Given the description of an element on the screen output the (x, y) to click on. 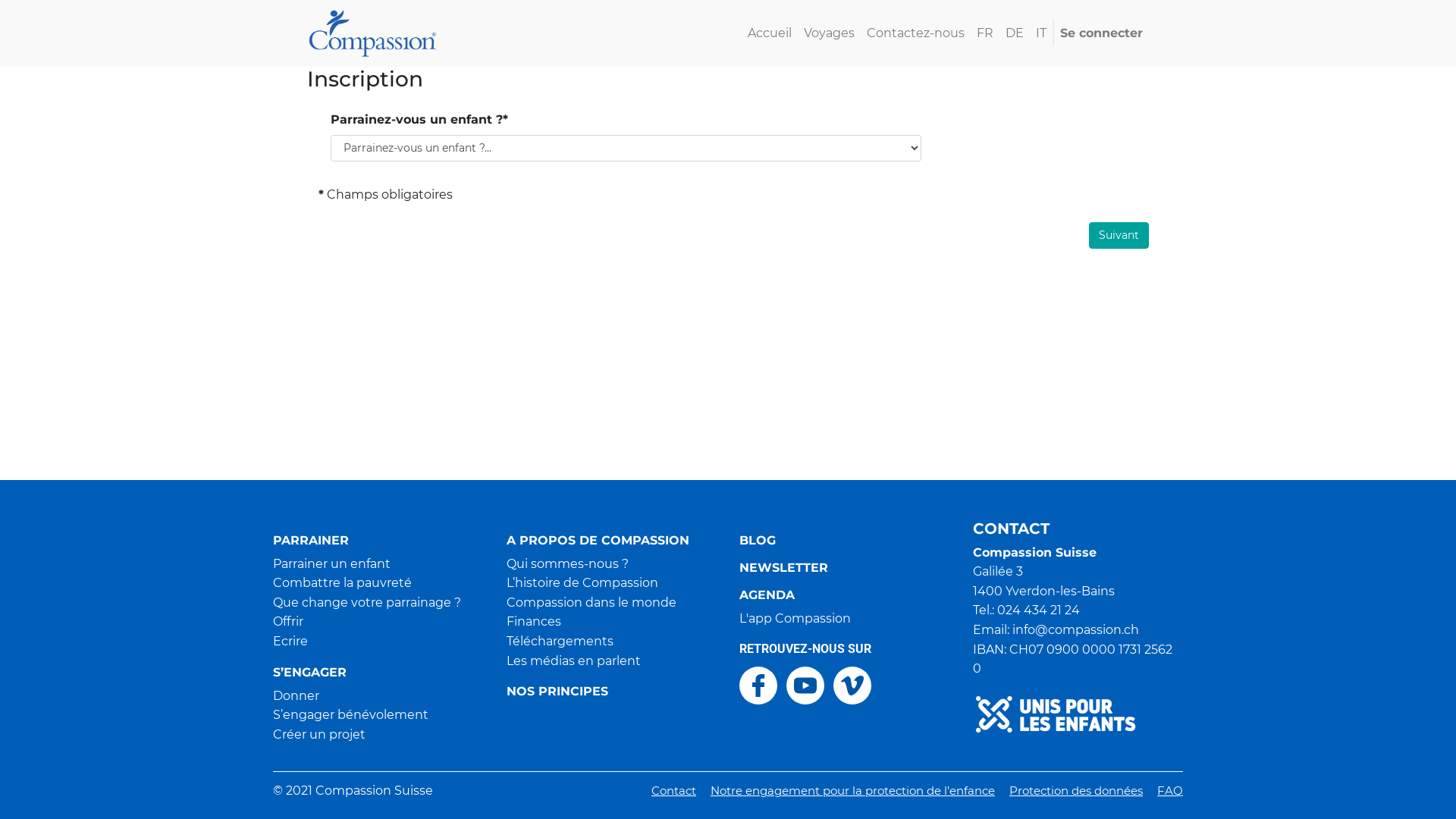
NOS PRINCIPES Element type: text (611, 691)
Se connecter Element type: text (1101, 33)
Compassion Suisse Element type: hover (372, 32)
BLOG Element type: text (844, 540)
Contactez-nous Element type: text (915, 33)
Contact Element type: text (673, 790)
Parrainer un enfant Element type: text (331, 563)
Donner Element type: text (296, 695)
L'app Compassion Element type: text (794, 618)
Accueil Element type: text (769, 33)
info@compassion.ch Element type: text (1074, 629)
IT Element type: text (1040, 33)
A PROPOS DE COMPASSION Element type: text (611, 540)
AGENDA Element type: text (844, 595)
FAQ Element type: text (1170, 790)
Compassion dans le monde Element type: text (591, 602)
Voyages Element type: text (828, 33)
Suivant Element type: text (1118, 235)
FR Element type: text (984, 33)
Offrir Element type: text (288, 621)
PARRAINER Element type: text (378, 540)
DE Element type: text (1014, 33)
NEWSLETTER Element type: text (844, 567)
Ecrire Element type: text (290, 640)
Que change votre parrainage ? Element type: text (367, 602)
Finances Element type: text (533, 621)
Qui sommes-nous ? Element type: text (567, 563)
